Given the description of an element on the screen output the (x, y) to click on. 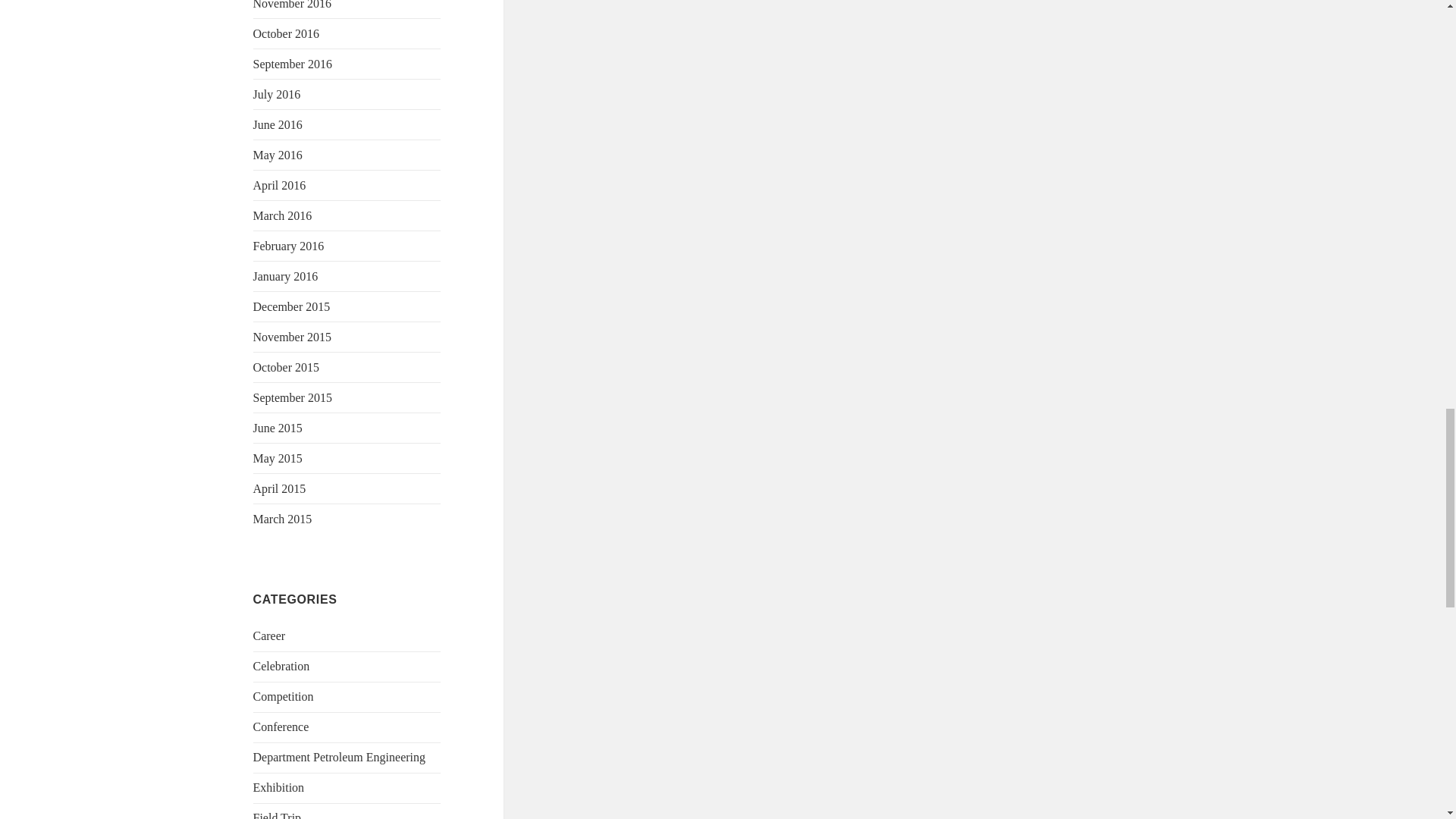
October 2016 (286, 33)
November 2016 (292, 4)
September 2016 (292, 63)
